Given the description of an element on the screen output the (x, y) to click on. 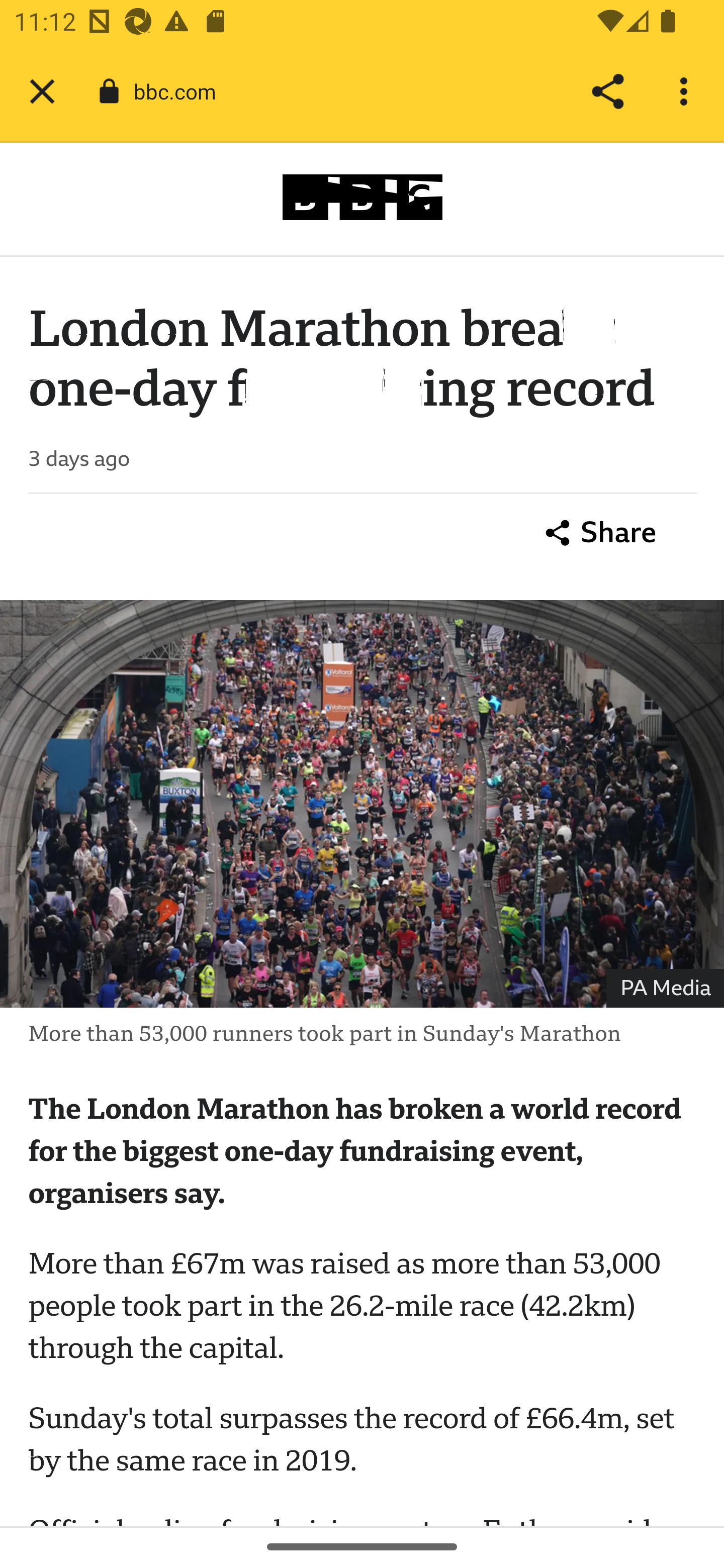
Close tab (42, 91)
Share (607, 91)
More options (687, 91)
Connection is secure (108, 91)
bbc.com (181, 90)
www.bbc (362, 196)
Share (601, 533)
